Given the description of an element on the screen output the (x, y) to click on. 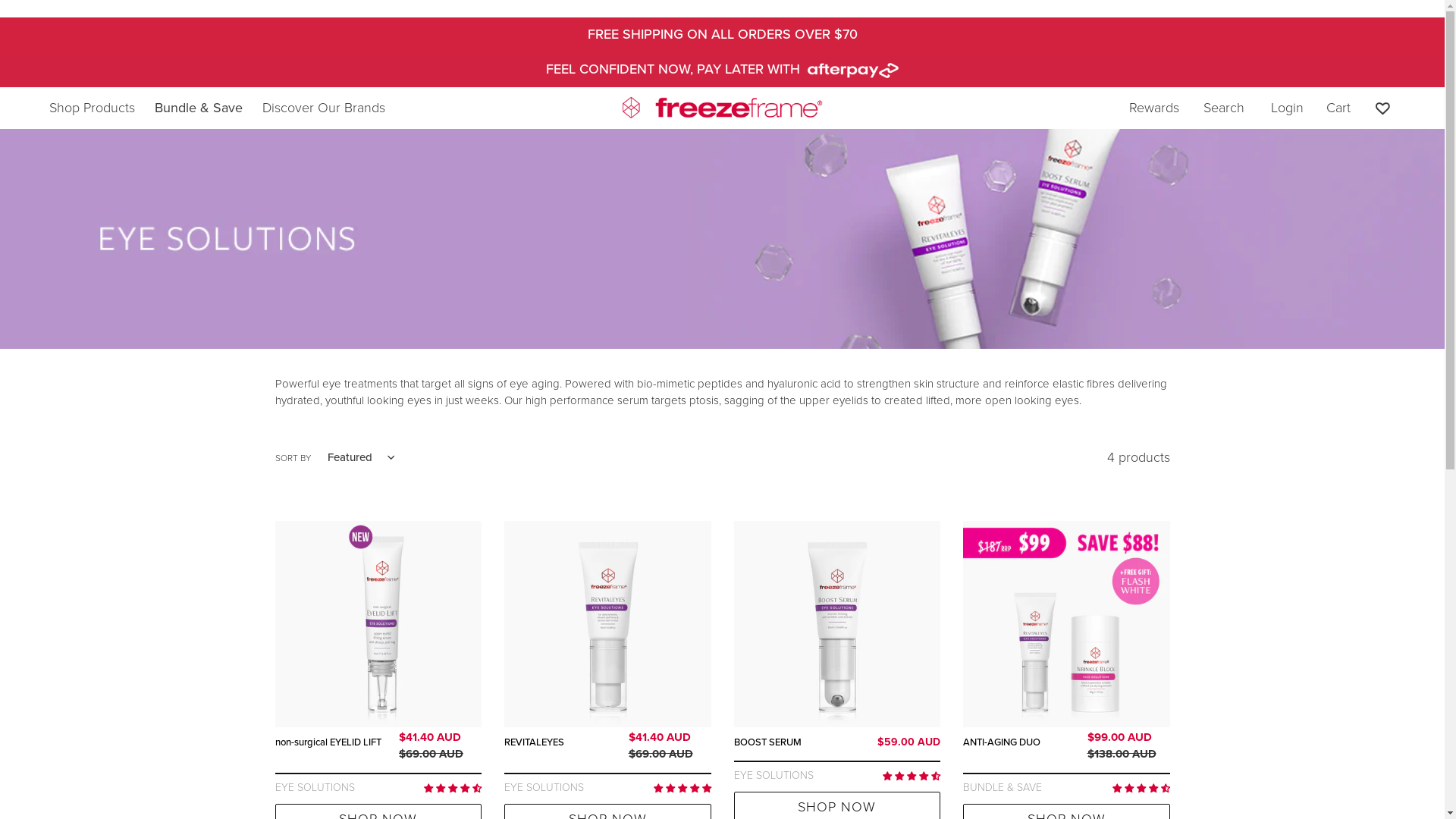
FREE SHIPPING ON ALL ORDERS OVER $70 Element type: text (722, 33)
Rewards Element type: text (1154, 107)
Search
Search Element type: text (1223, 107)
FEEL CONFIDENT NOW, PAY LATER WITH Element type: text (722, 68)
Login
Log in Element type: text (1286, 107)
Shop Products Element type: text (91, 106)
BOOST SERUM
Regular price
$59.00 AUD Element type: text (837, 744)
SHOP NOW Element type: text (837, 805)
REVITALEYES
Sale price
$41.40 AUD
Regular price
$69.00 AUD Element type: text (607, 750)
Wishlist Element type: text (1381, 107)
Bundle & Save Element type: text (198, 107)
Cart
Cart Element type: text (1337, 107)
Discover Our Brands Element type: text (323, 106)
